Given the description of an element on the screen output the (x, y) to click on. 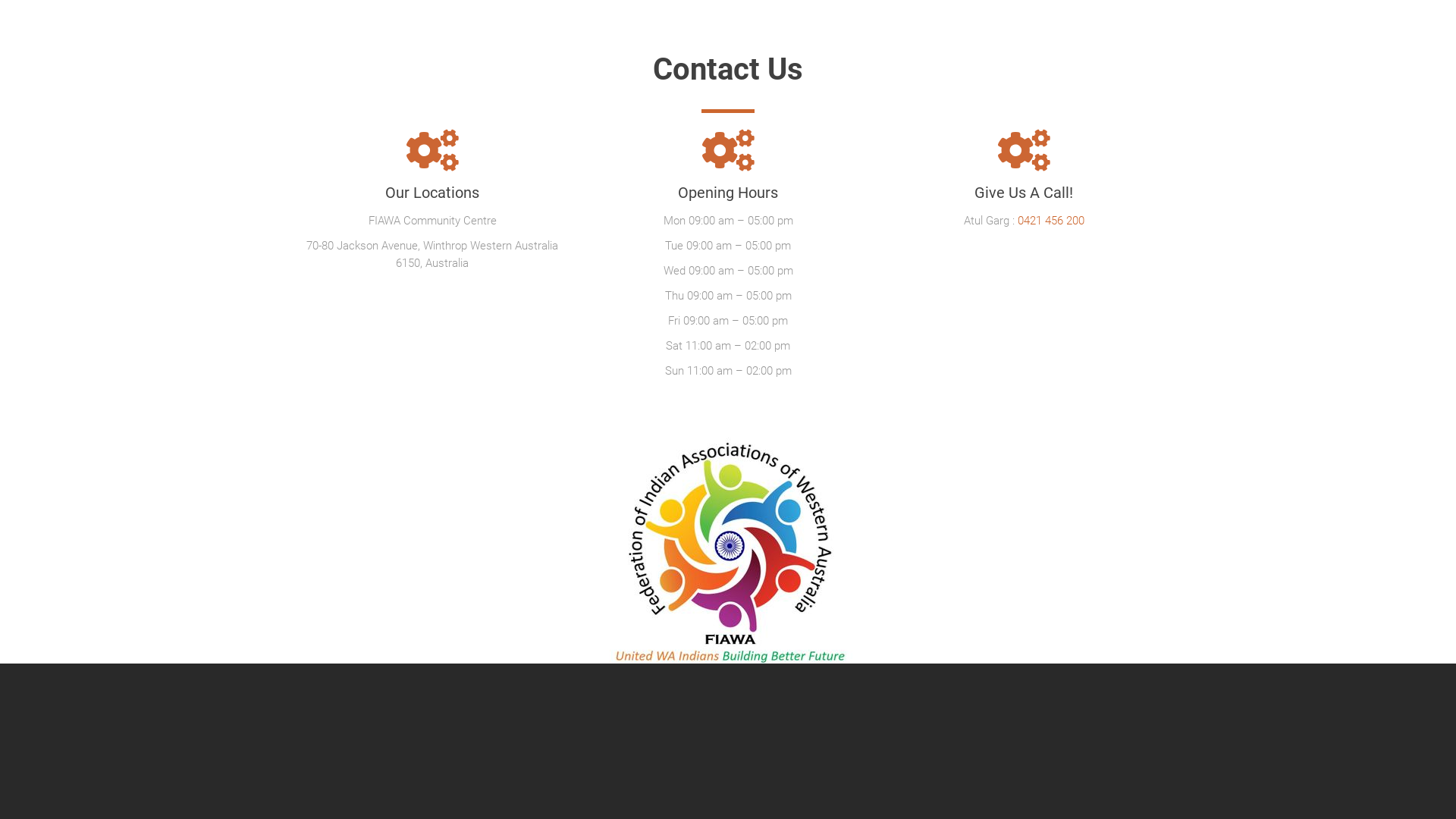
0421 456 200 Element type: text (1050, 220)
